Given the description of an element on the screen output the (x, y) to click on. 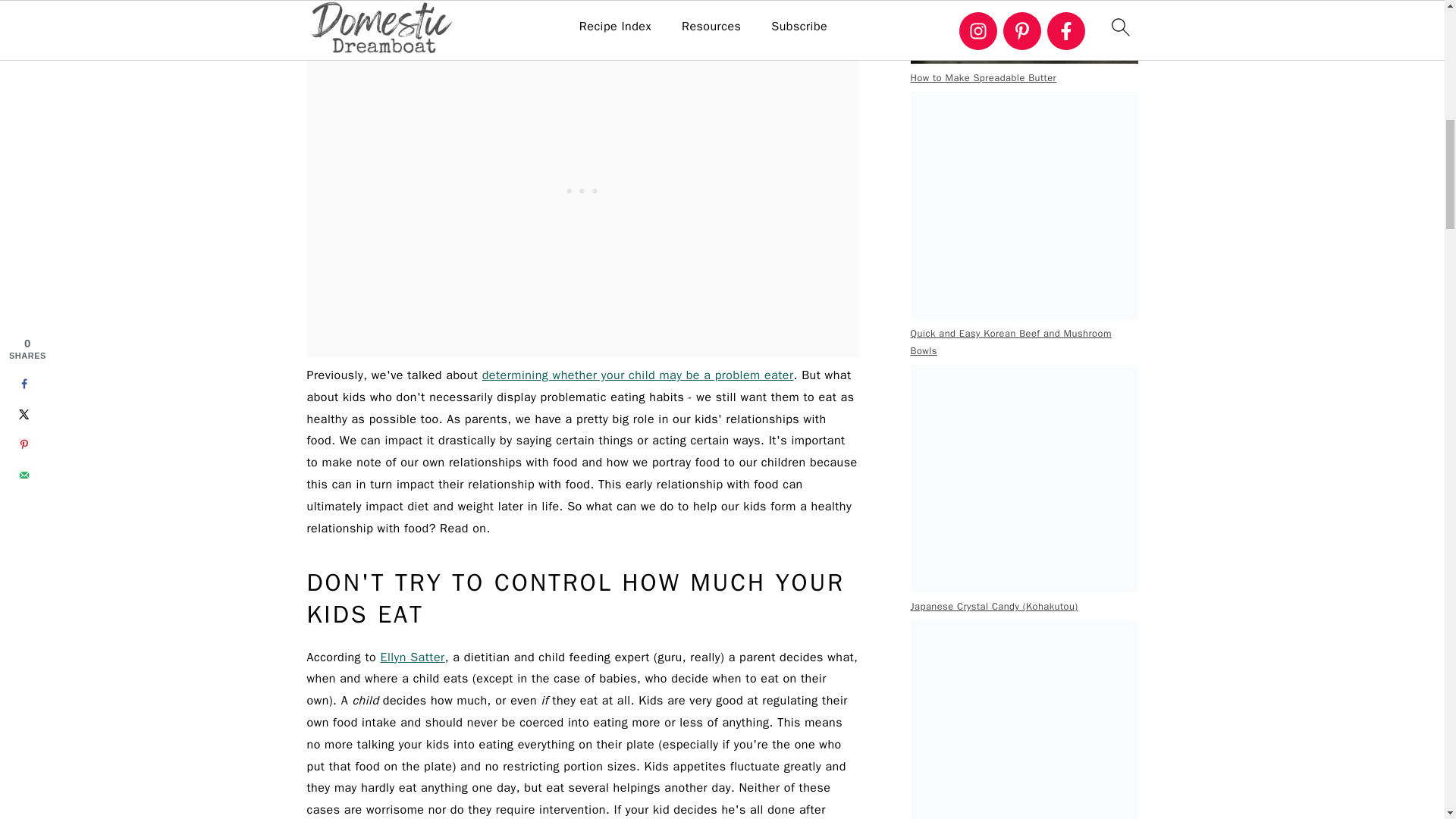
Cornflake Squares (1023, 719)
determining whether your child may be a problem eater (637, 375)
Quick and Easy Korean Beef and Mushroom Bowls (1023, 205)
How to Make Spreadable Butter (1023, 31)
Ellyn Satter (412, 657)
